Given the description of an element on the screen output the (x, y) to click on. 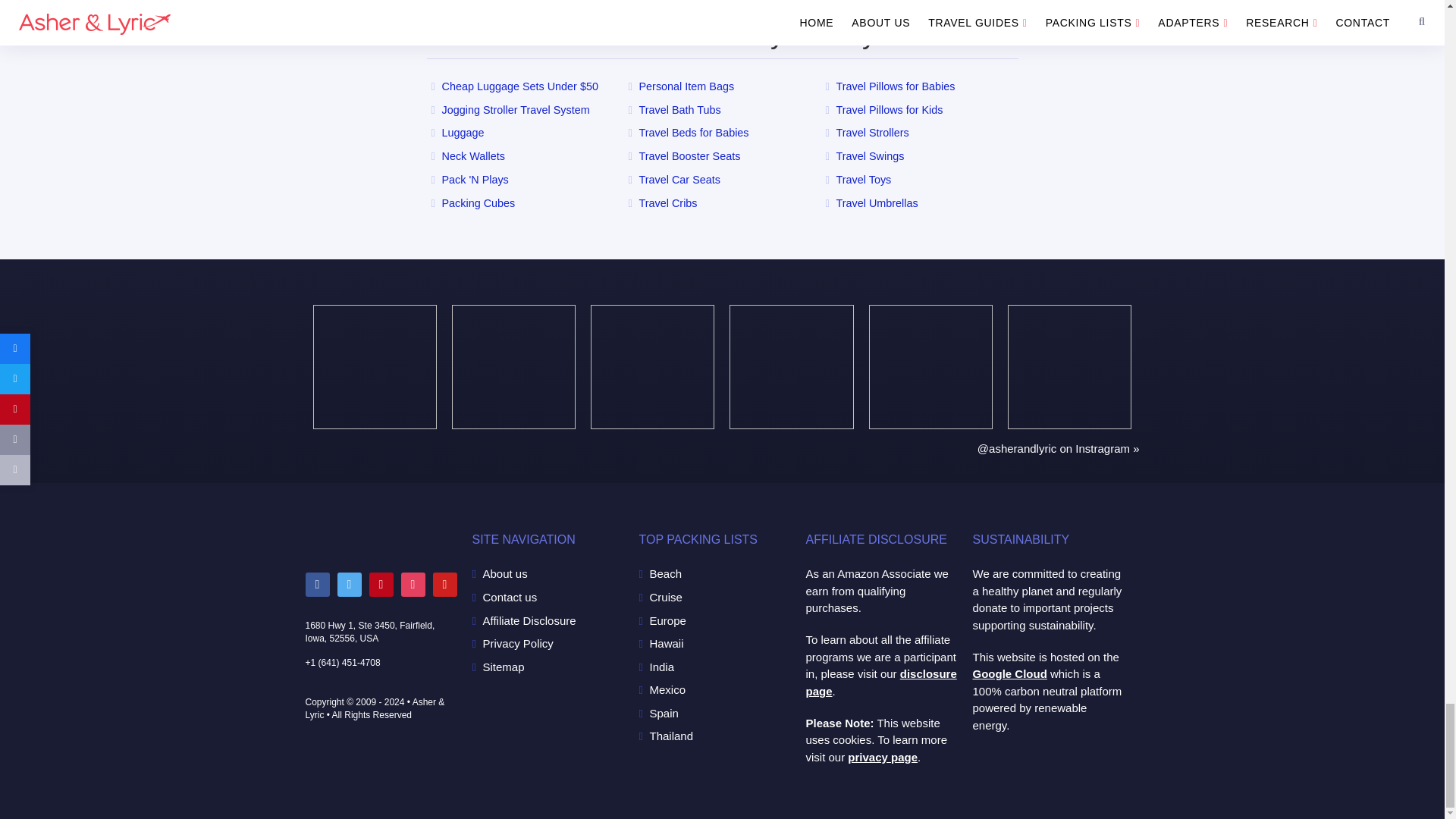
YouTube (444, 584)
Facebook (316, 584)
Twitter (348, 584)
Instagram (412, 584)
Pinterest (380, 584)
